Given the description of an element on the screen output the (x, y) to click on. 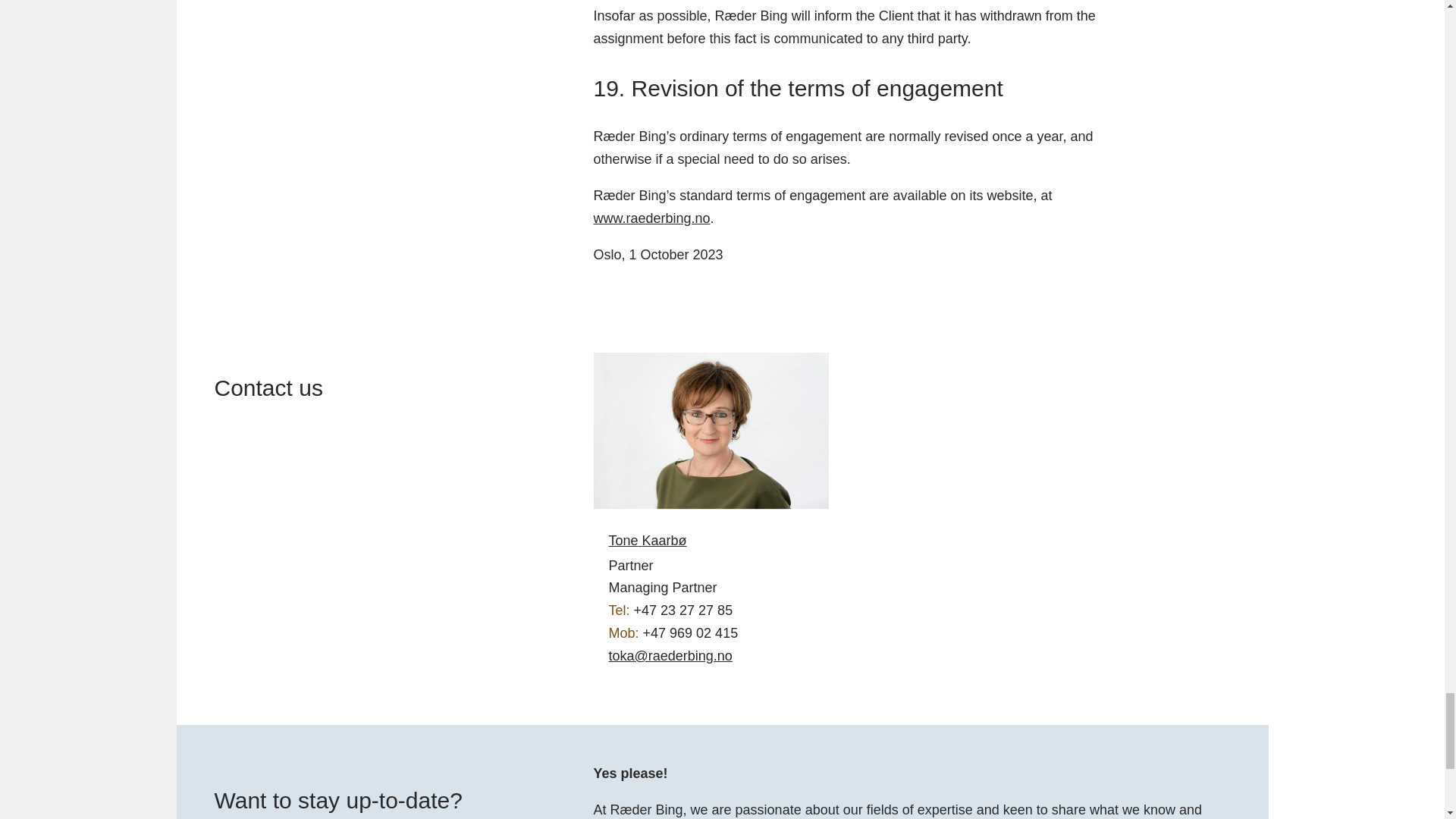
Tel: (710, 610)
www.raederbing.no (651, 218)
Mob: (710, 633)
